Given the description of an element on the screen output the (x, y) to click on. 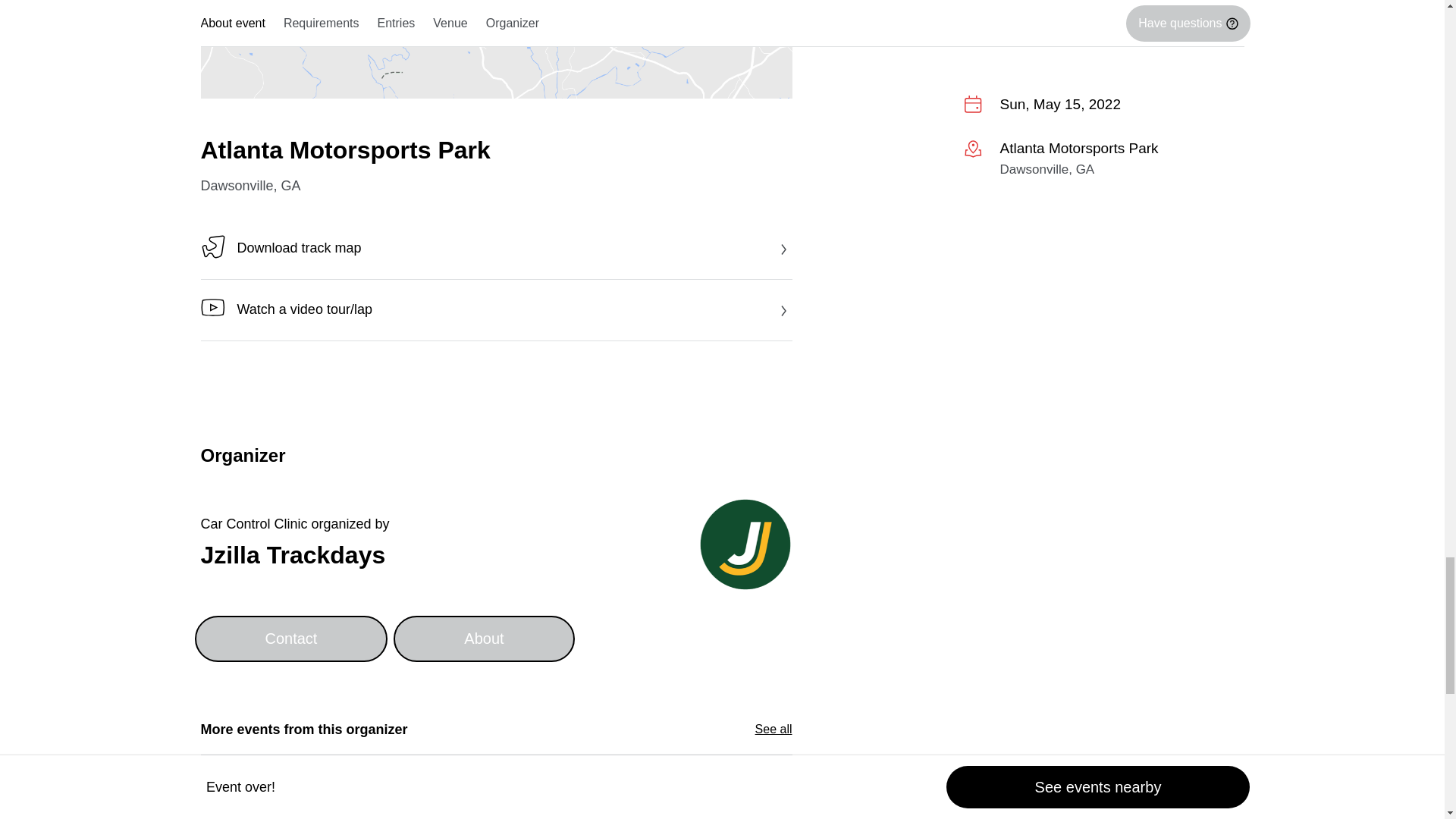
Car Control Clinic (253, 523)
About (483, 638)
Contact (290, 638)
